Given the description of an element on the screen output the (x, y) to click on. 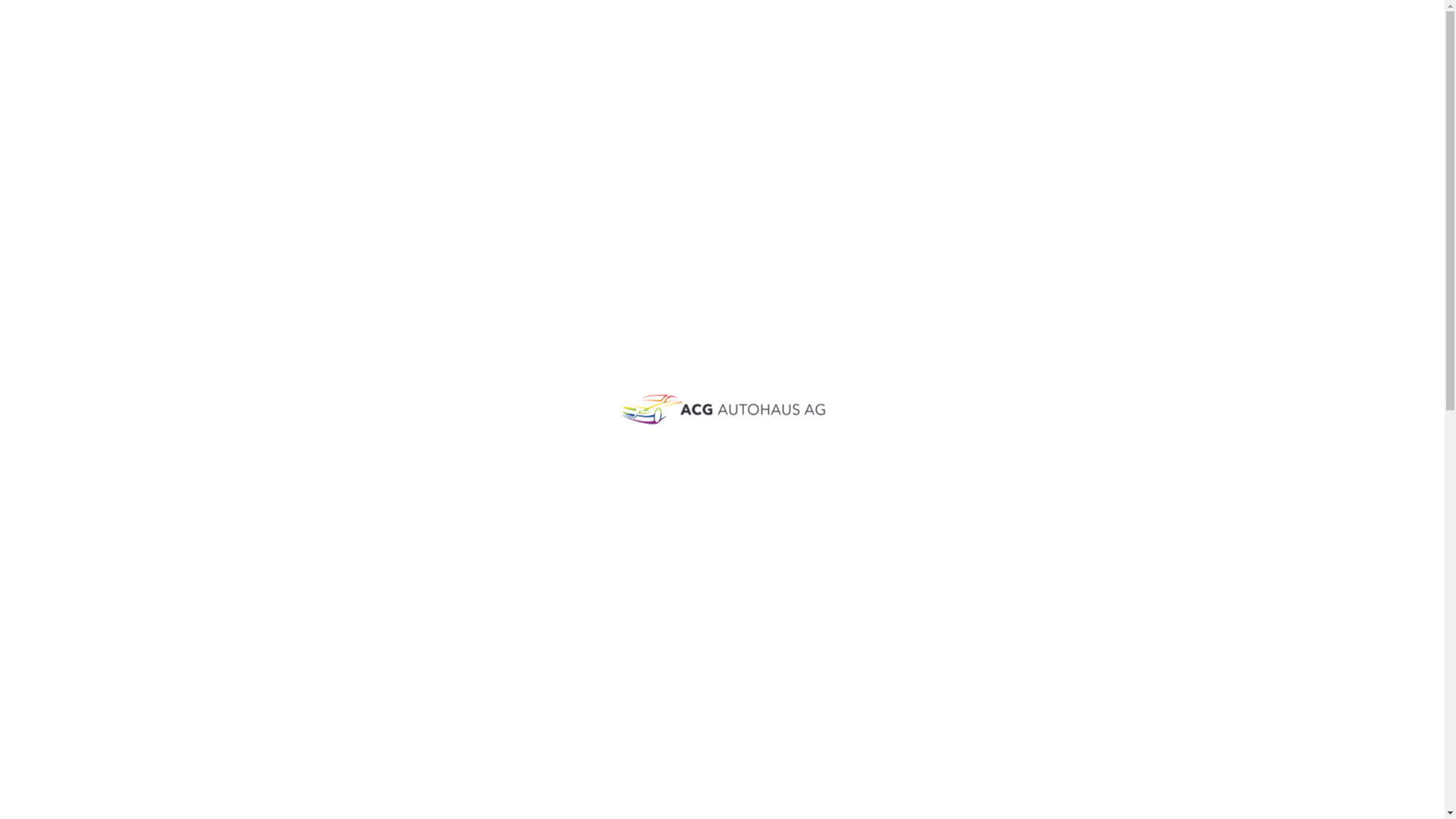
Pflegen Element type: text (1094, 45)
Kaufen Element type: text (911, 45)
Reparieren Element type: text (1002, 45)
